Given the description of an element on the screen output the (x, y) to click on. 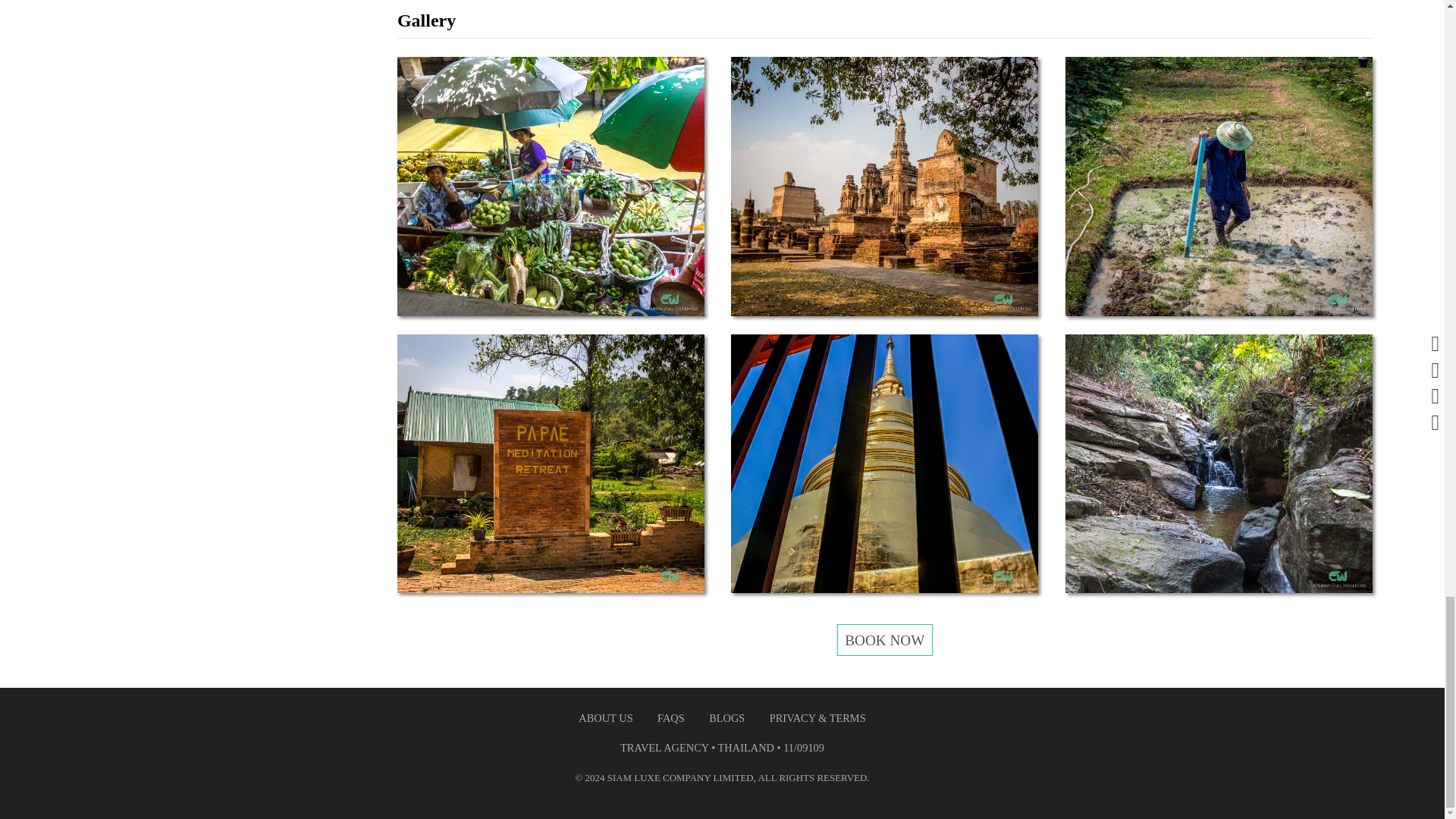
BOOK NOW (885, 640)
Book this tour now and prepare for your trip to Thailand. (885, 640)
Google Plus (680, 777)
BLOGS (726, 717)
SIAM LUXE COMPANY LIMITED (680, 777)
FAQS (671, 717)
ABOUT US (604, 717)
